Given the description of an element on the screen output the (x, y) to click on. 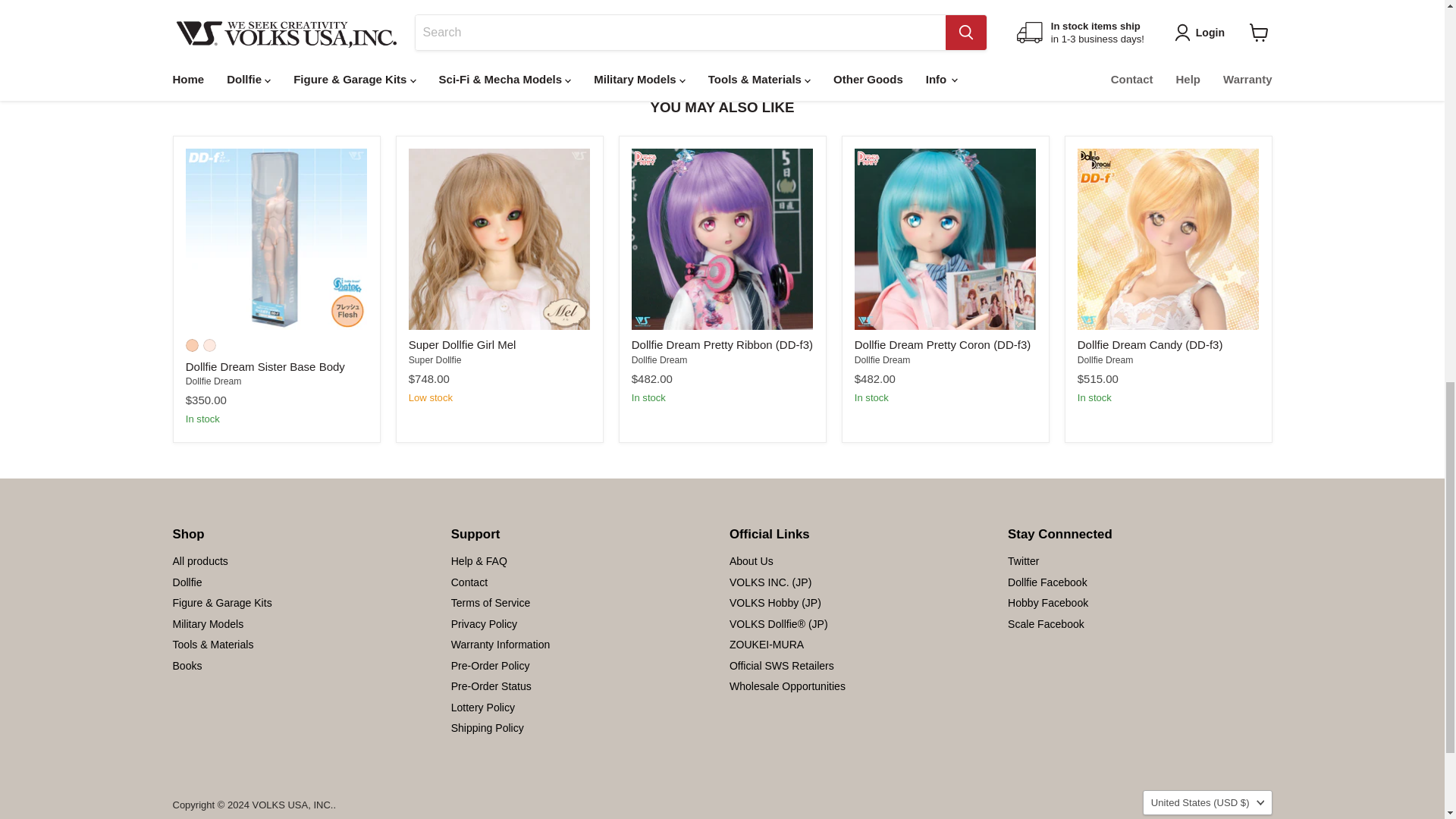
Dollfie Dream (659, 359)
Super Dollfie (435, 359)
Dollfie Dream (882, 359)
Dollfie Dream (213, 380)
Dollfie Dream (1105, 359)
